Given the description of an element on the screen output the (x, y) to click on. 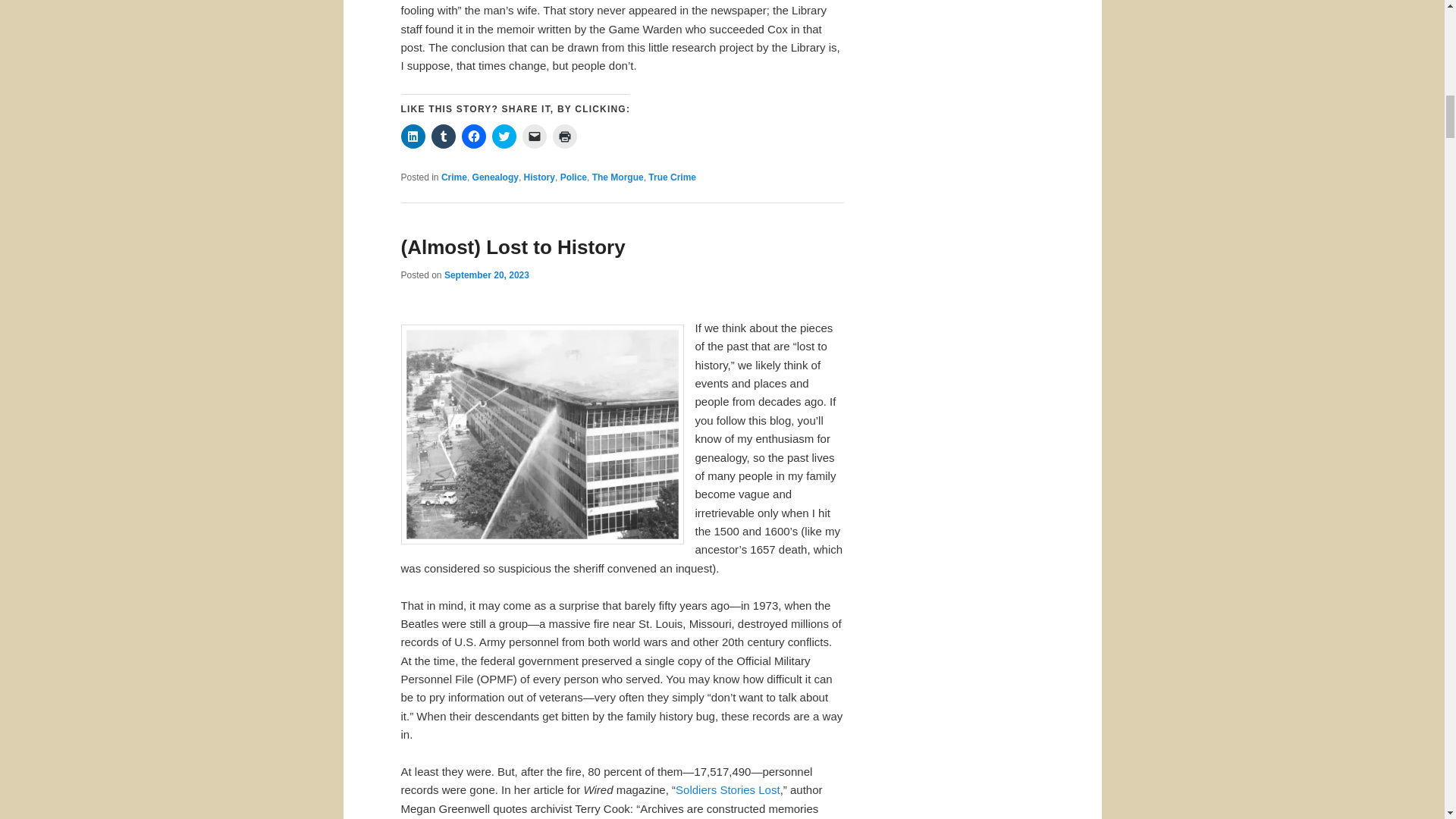
The Morgue (617, 176)
Click to share on Facebook (472, 136)
Police (573, 176)
7:00 am (486, 275)
Soldiers Stories Lost (727, 789)
Crime (454, 176)
Click to share on LinkedIn (412, 136)
Genealogy (494, 176)
Click to share on Tumblr (442, 136)
Click to print (563, 136)
